Given the description of an element on the screen output the (x, y) to click on. 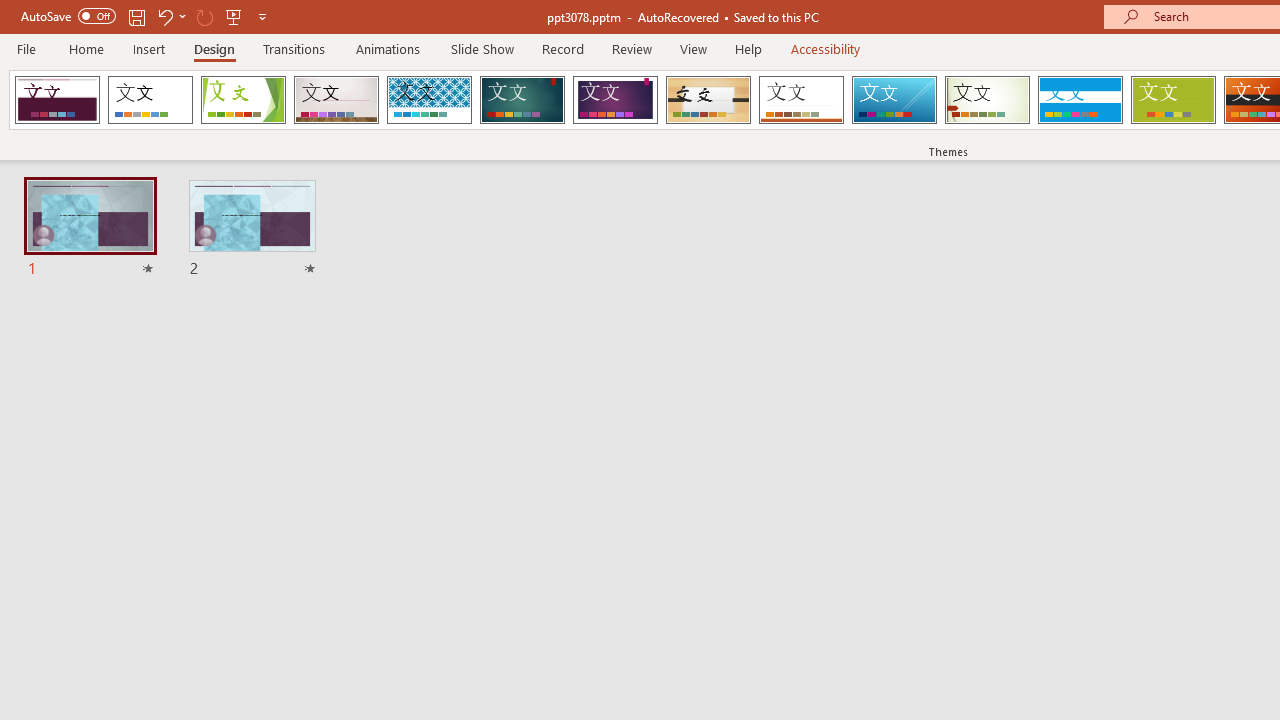
Basis (1172, 100)
Retrospect (801, 100)
Integral (429, 100)
Gallery (336, 100)
Slice (893, 100)
Droplet (57, 100)
